Given the description of an element on the screen output the (x, y) to click on. 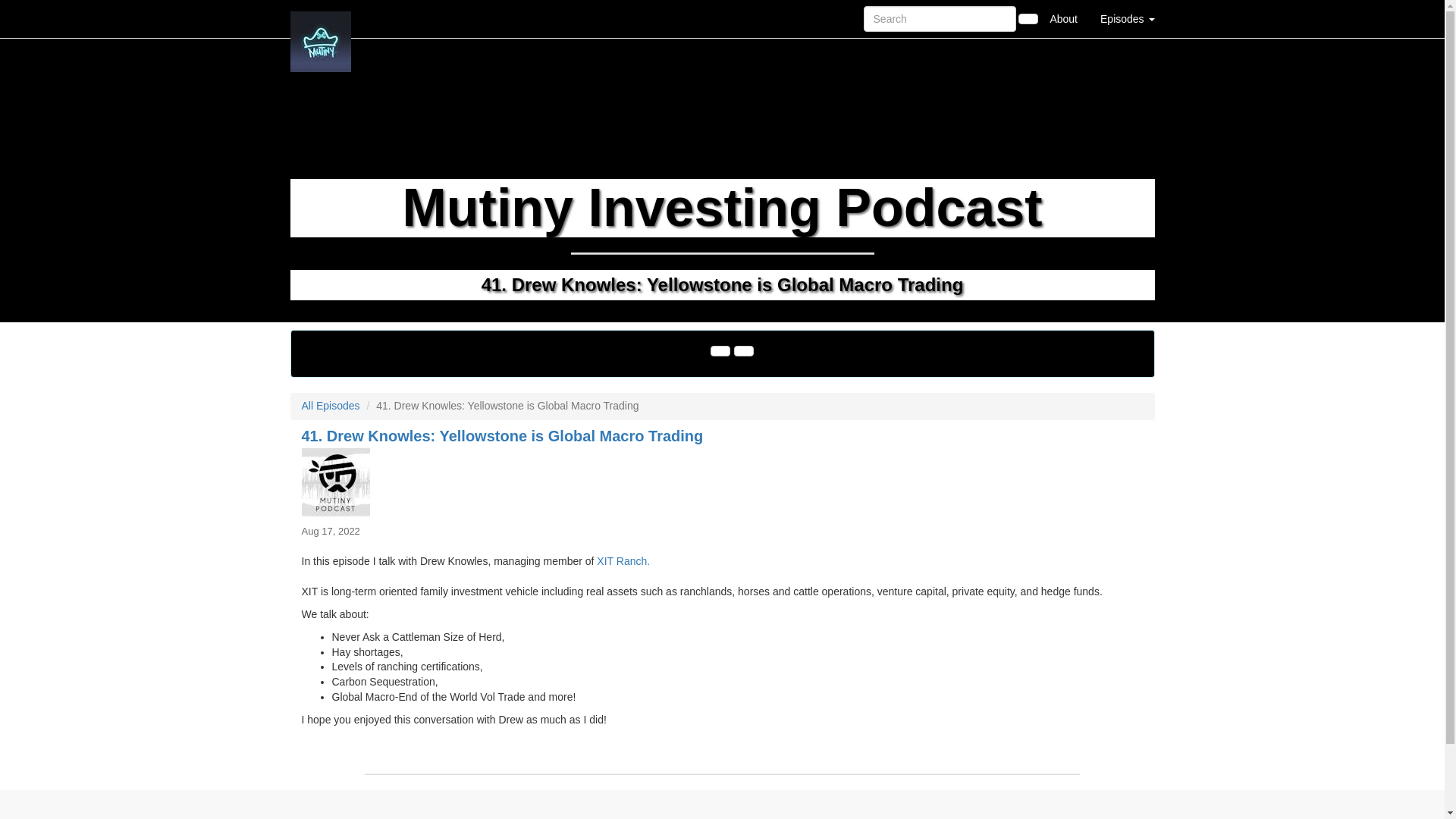
About (1063, 18)
Episodes (1127, 18)
Home Page (320, 18)
41. Drew Knowles: Yellowstone is Global Macro Trading (721, 481)
